Given the description of an element on the screen output the (x, y) to click on. 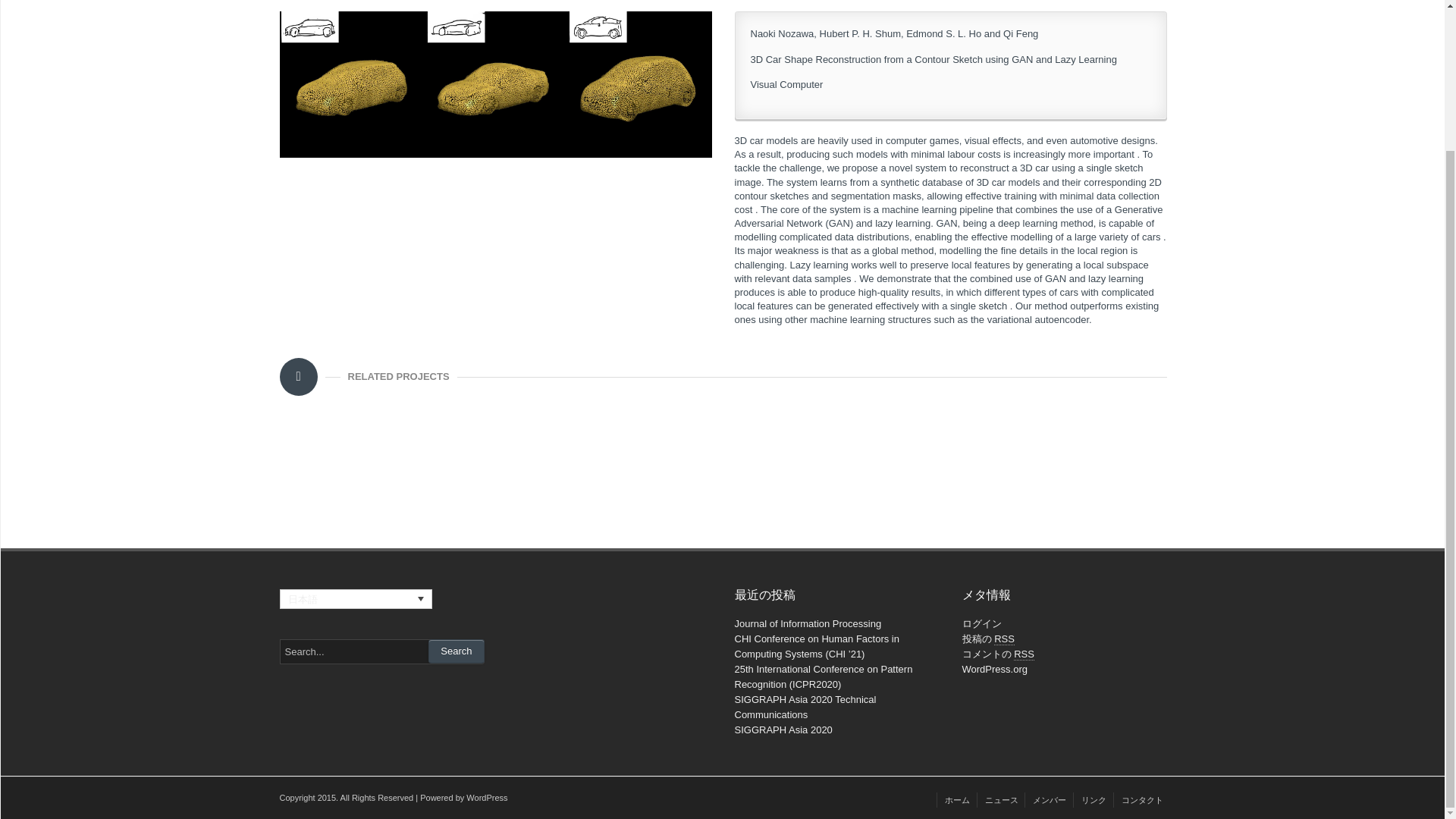
Really Simple Syndication (1023, 654)
Search (455, 651)
Search... (381, 651)
Really Simple Syndication (1004, 639)
